Given the description of an element on the screen output the (x, y) to click on. 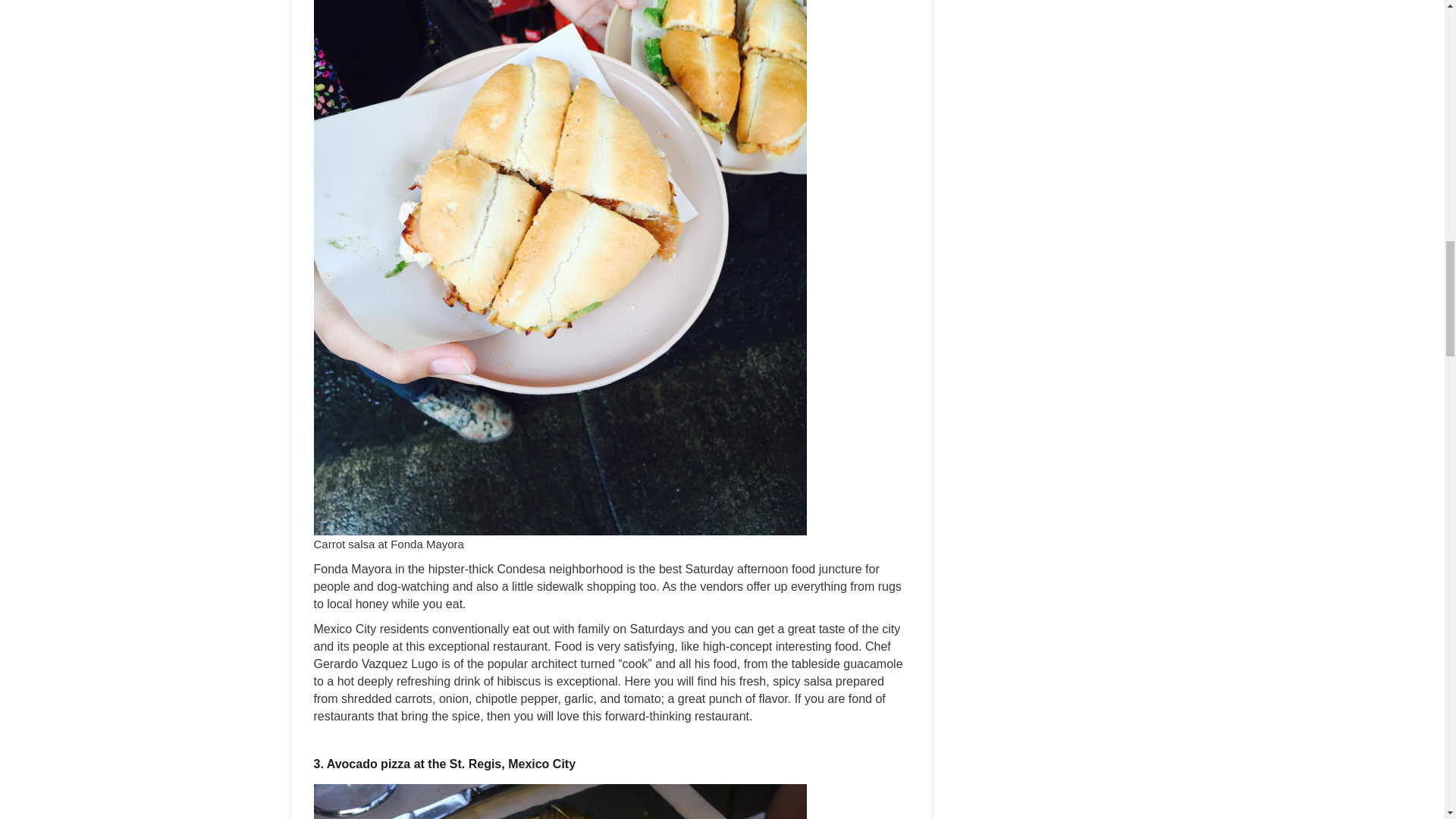
Top 10 Foods you must Taste in Mexico City (560, 801)
